Given the description of an element on the screen output the (x, y) to click on. 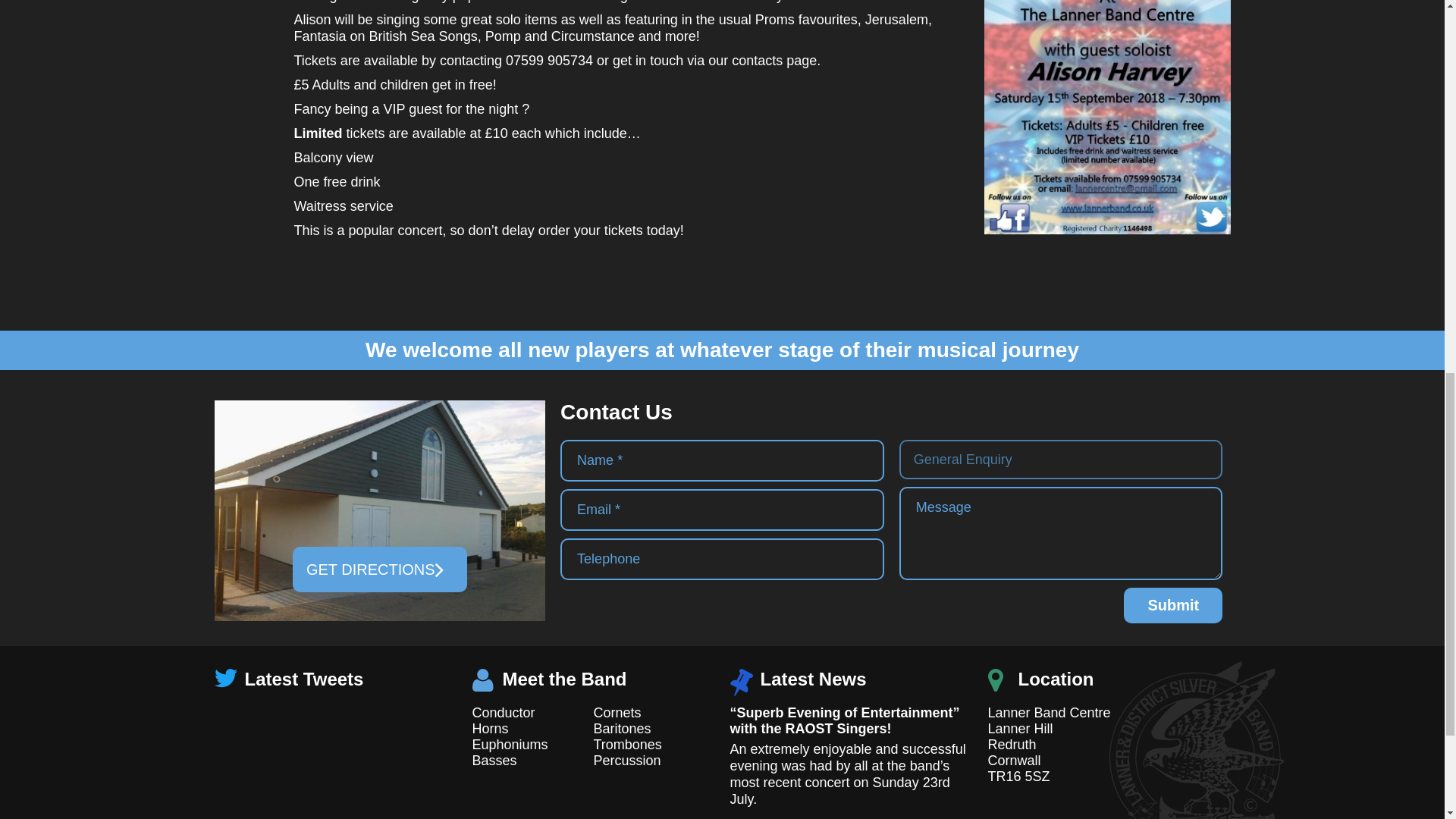
Baritones (621, 728)
Submit (1173, 605)
Conductor (502, 712)
Euphoniums (509, 744)
Basses (493, 760)
GET DIRECTIONS (379, 569)
Cornets (616, 712)
Submit (1173, 605)
Percussion (626, 760)
Horns (489, 728)
Trombones (626, 744)
